Given the description of an element on the screen output the (x, y) to click on. 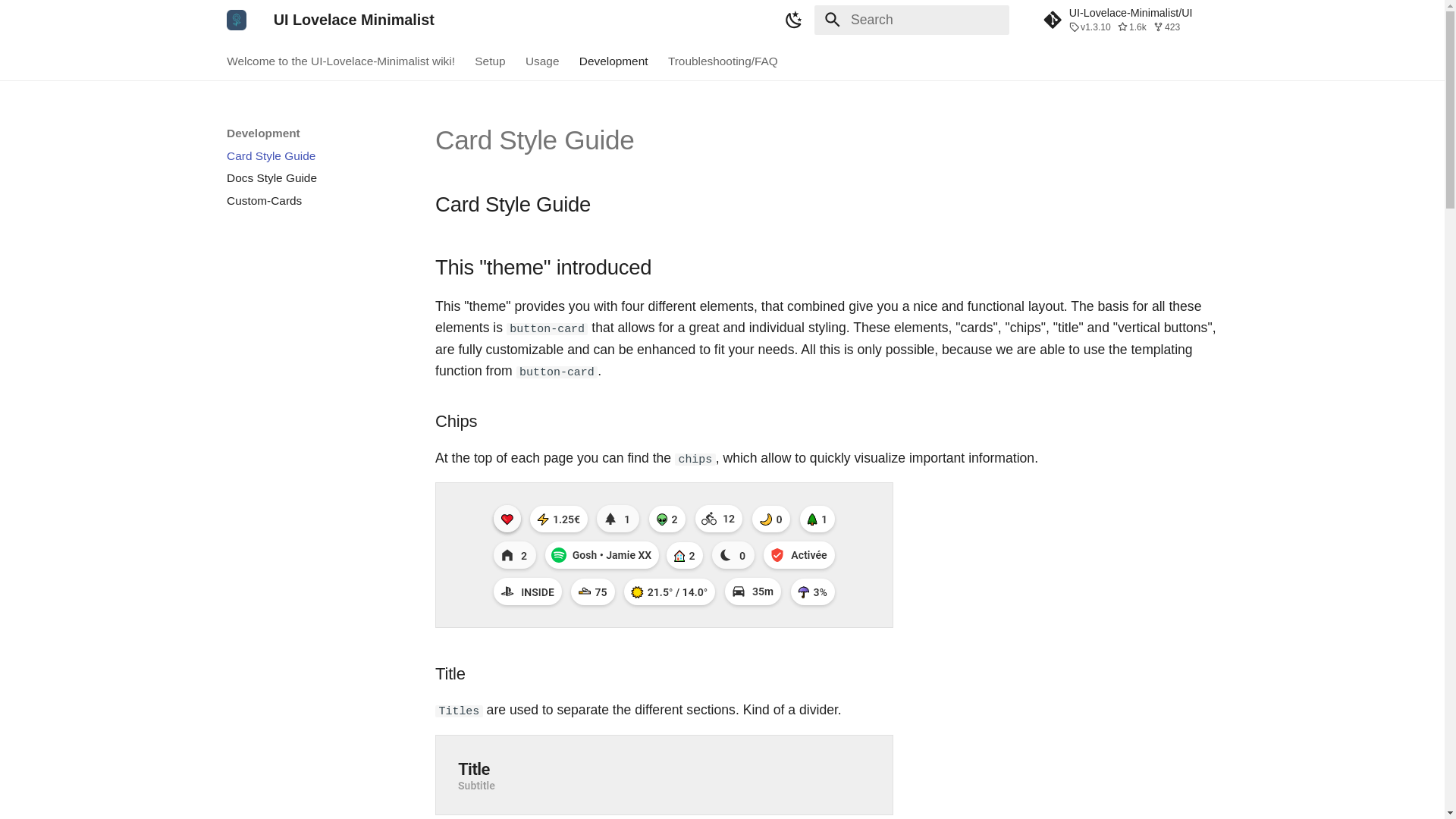
UI Lovelace Minimalist (236, 19)
Dark mode (793, 19)
Welcome to the UI-Lovelace-Minimalist wiki! (340, 60)
Usage (542, 60)
Development (613, 60)
Setup (489, 60)
Go to repository (1129, 20)
